Given the description of an element on the screen output the (x, y) to click on. 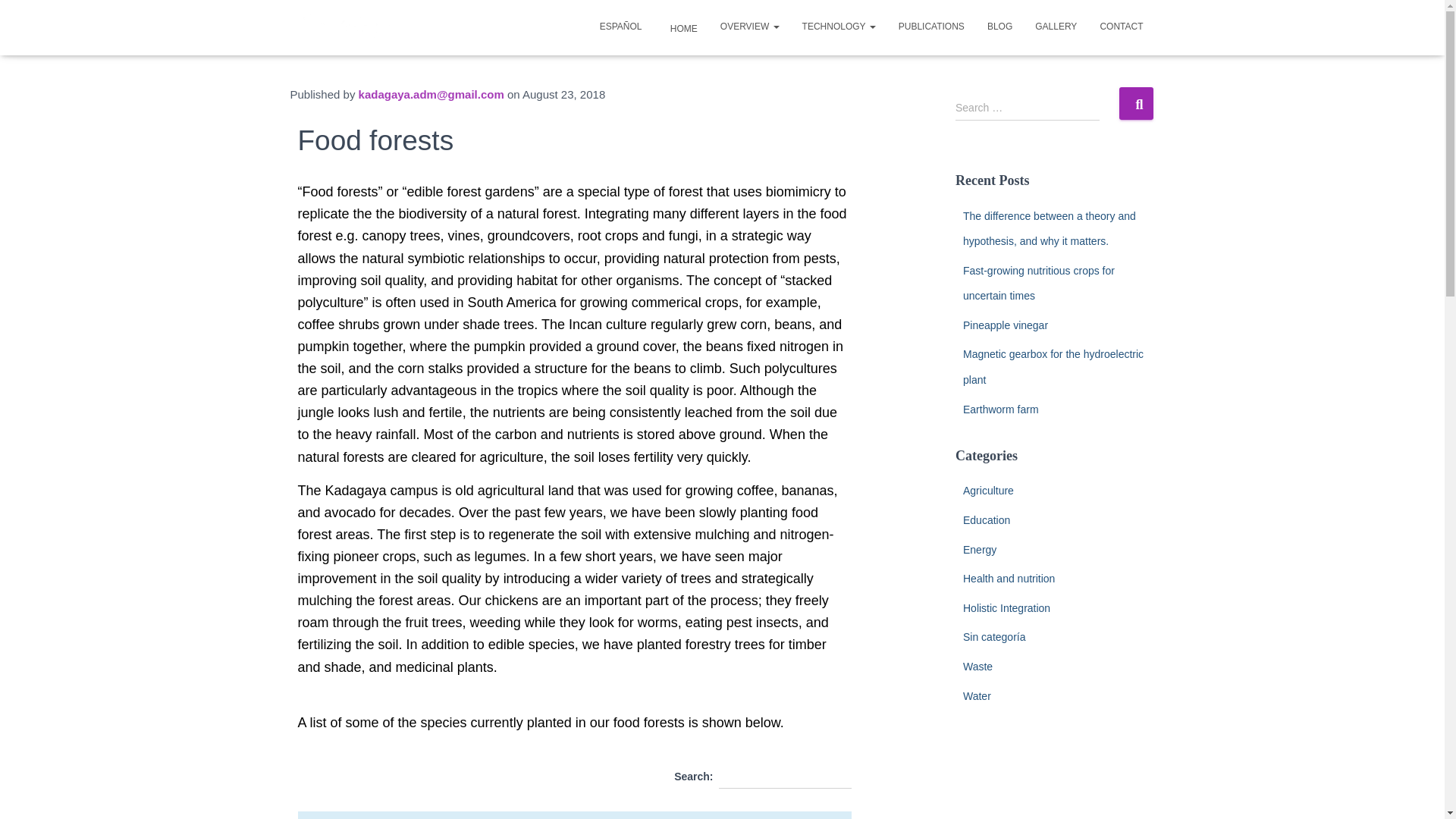
Overview (749, 26)
Search (1136, 102)
 HOME (679, 27)
Kadagaya (351, 27)
Technology (838, 26)
OVERVIEW (749, 26)
Magnetic gearbox for the hydroelectric plant (1052, 366)
BLOG (999, 26)
Earthworm farm (1000, 409)
Education (986, 520)
TECHNOLOGY (838, 26)
Pineapple vinegar (1005, 325)
GALLERY (1055, 26)
PUBLICATIONS (930, 26)
